Given the description of an element on the screen output the (x, y) to click on. 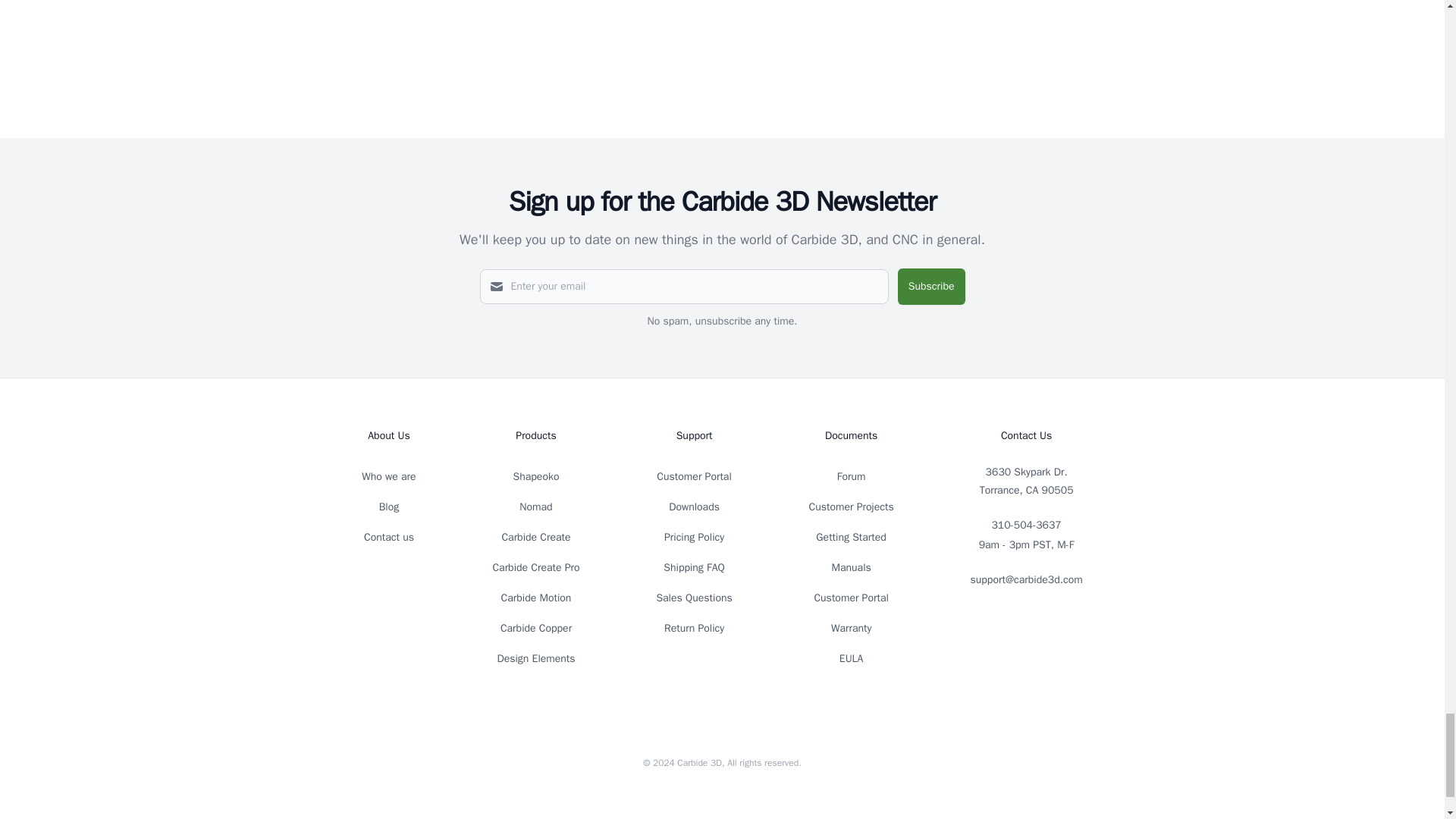
Carbide Create (535, 536)
Nomad (535, 506)
Shapeoko (536, 476)
Carbide Motion (536, 597)
Customer Portal (693, 476)
Subscribe (931, 286)
Design Elements (535, 658)
Carbide Create Pro (535, 567)
Contact us (388, 536)
Subscribe (931, 286)
Carbide Copper (536, 627)
Blog (388, 506)
Who we are (387, 476)
